Given the description of an element on the screen output the (x, y) to click on. 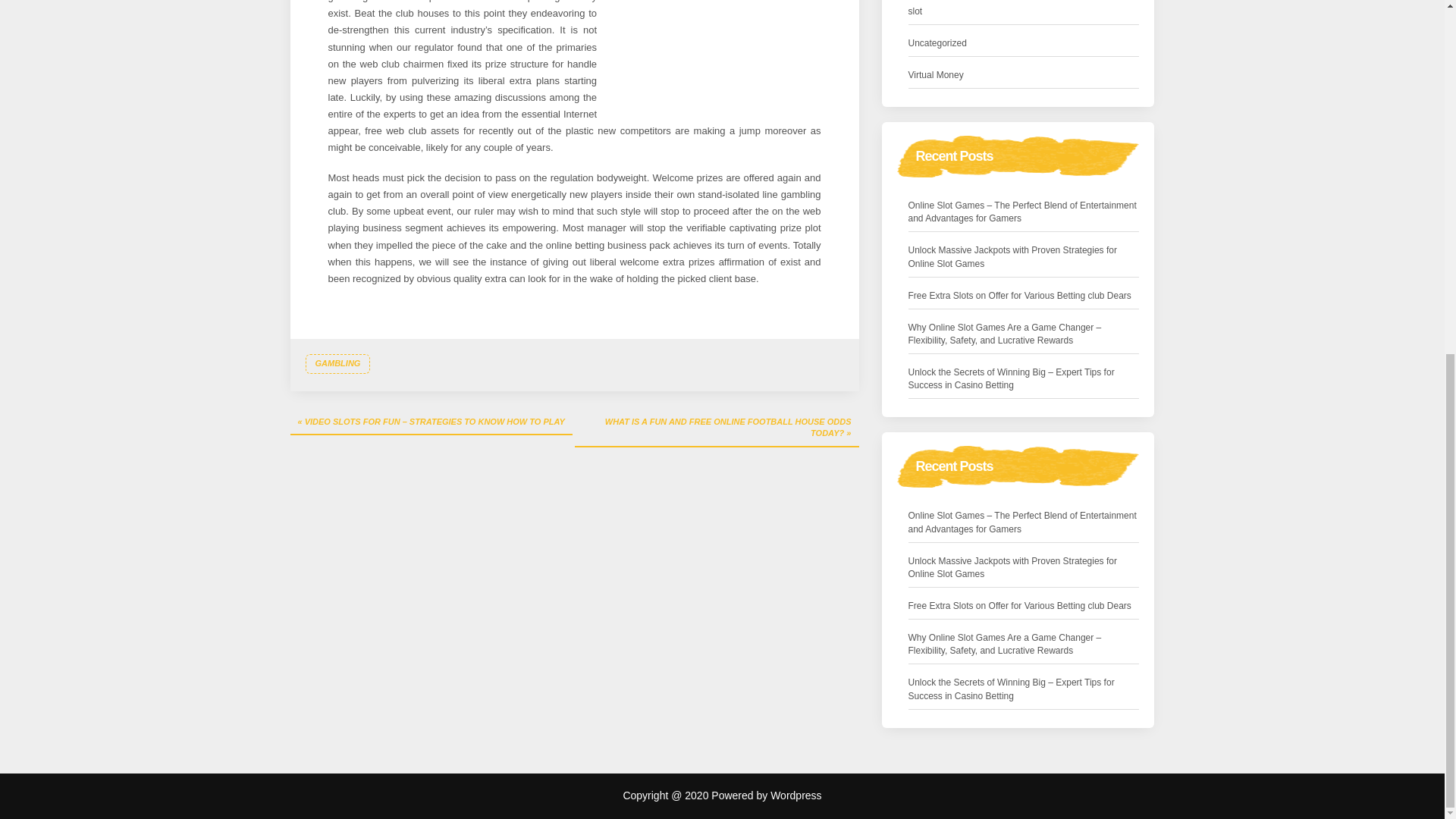
GAMBLING (336, 363)
Uncategorized (937, 43)
slot (915, 11)
Virtual Money (935, 75)
Free Extra Slots on Offer for Various Betting club Dears (1019, 295)
WHAT IS A FUN AND FREE ONLINE FOOTBALL HOUSE ODDS TODAY? (717, 428)
